Given the description of an element on the screen output the (x, y) to click on. 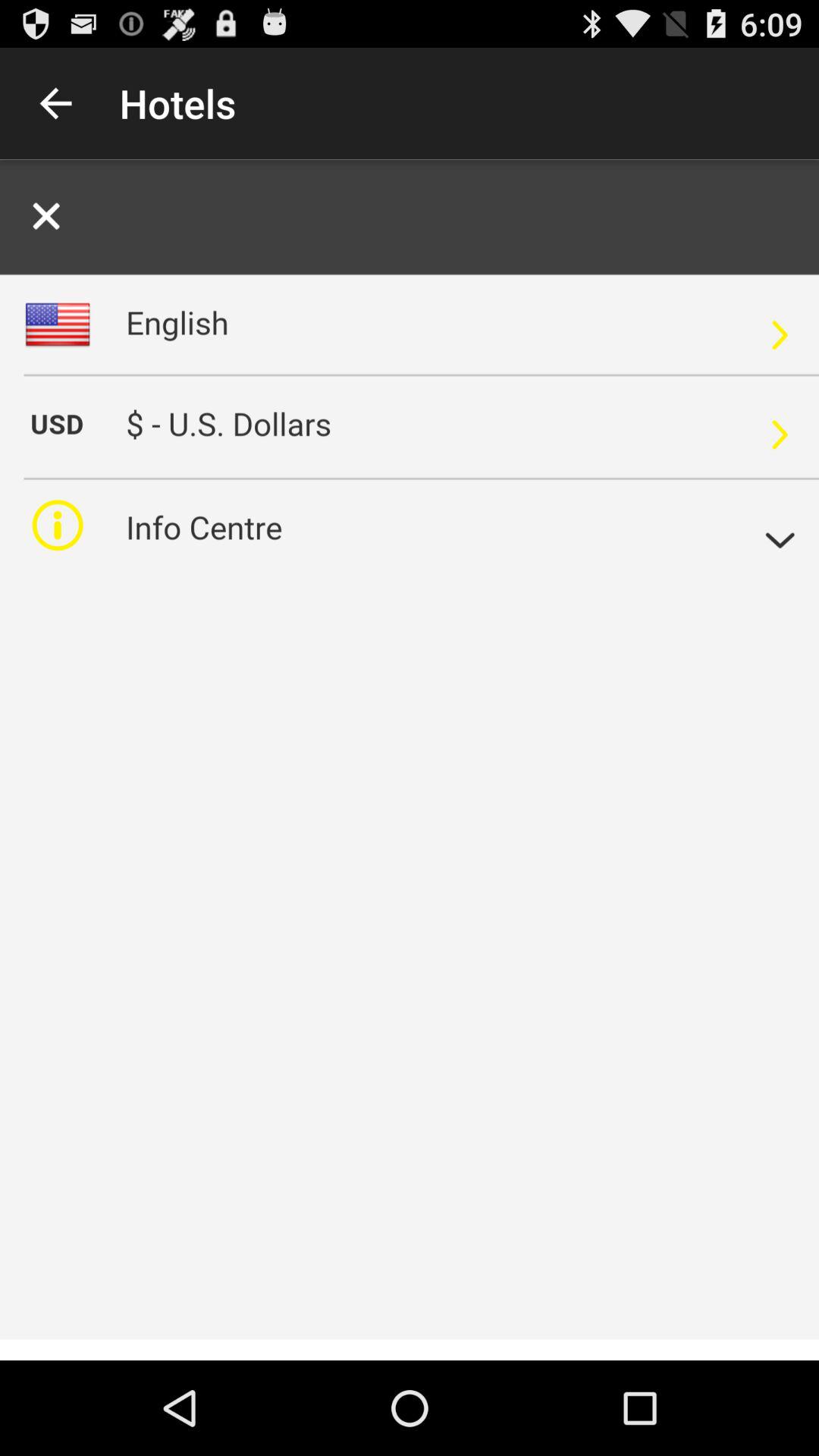
front of the page (409, 759)
